Given the description of an element on the screen output the (x, y) to click on. 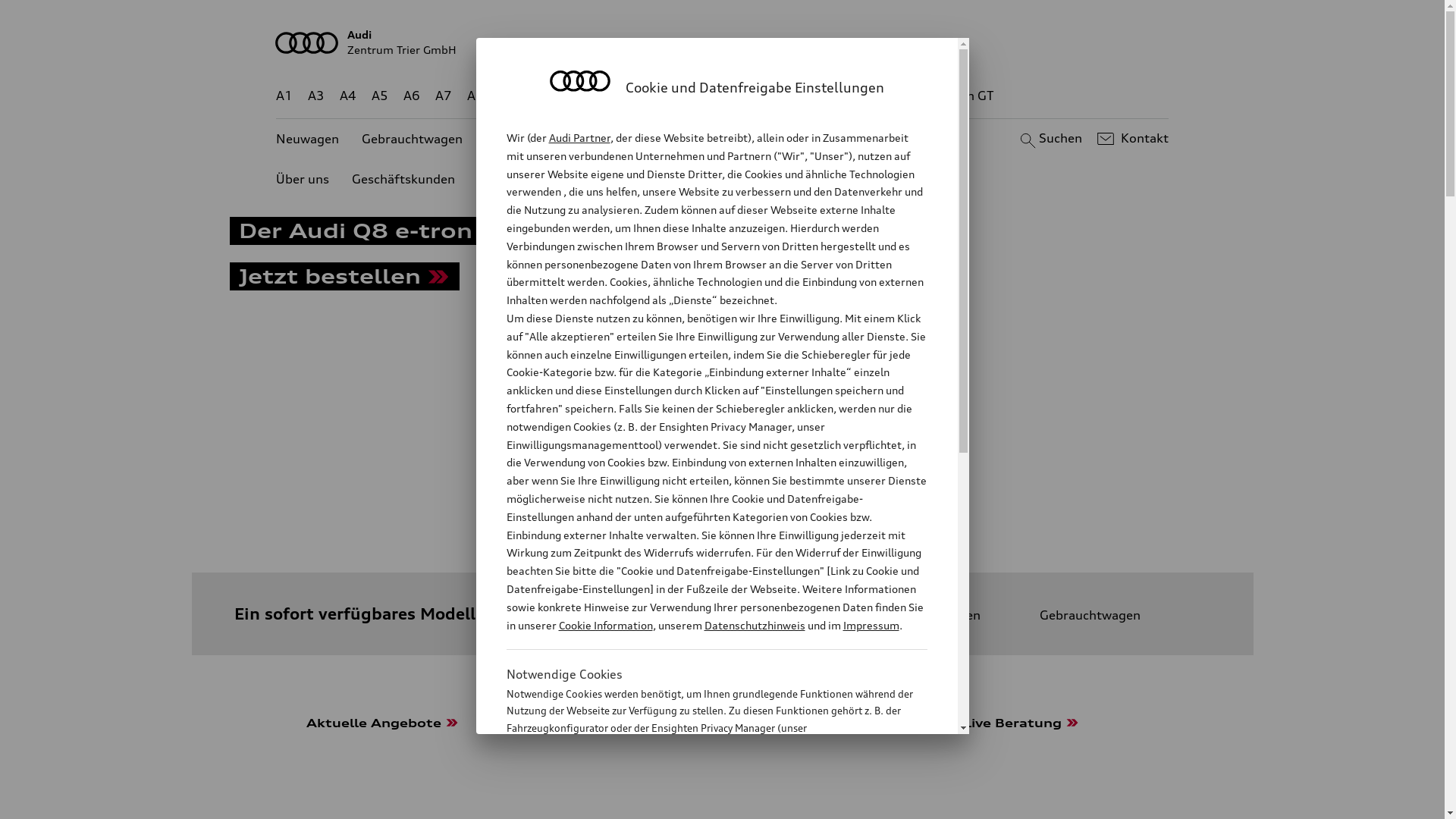
Audi
Zentrum Trier GmbH Element type: text (722, 42)
A6 Element type: text (411, 95)
A7 Element type: text (443, 95)
A8 Element type: text (475, 95)
Online Terminvereinbarung Element type: text (878, 139)
Impressum Element type: text (871, 624)
Q4 e-tron Element type: text (592, 95)
Q8 Element type: text (710, 95)
Gebrauchtwagen Element type: text (411, 139)
Angebote Element type: text (636, 139)
Q7 Element type: text (678, 95)
A3 Element type: text (315, 95)
RS Element type: text (861, 95)
TT Element type: text (814, 95)
e-tron GT Element type: text (965, 95)
Suchen Element type: text (1049, 138)
A1 Element type: text (284, 95)
Gebrauchtwagen Element type: text (1075, 614)
Kontakt Element type: text (1130, 138)
Neuwagen Element type: text (307, 139)
Q3 Element type: text (540, 95)
A4 Element type: text (347, 95)
Q8 e-tron Element type: text (763, 95)
Jetzt bestellen Element type: text (343, 278)
Audi Partner Element type: text (579, 137)
Q5 Element type: text (645, 95)
Datenschutzhinweis Element type: text (753, 624)
Neuwagen Element type: text (935, 614)
Kundenservice Element type: text (730, 139)
Q2 Element type: text (507, 95)
A5 Element type: text (379, 95)
Cookie Information Element type: text (700, 802)
Cookie Information Element type: text (605, 624)
g-tron Element type: text (903, 95)
